Given the description of an element on the screen output the (x, y) to click on. 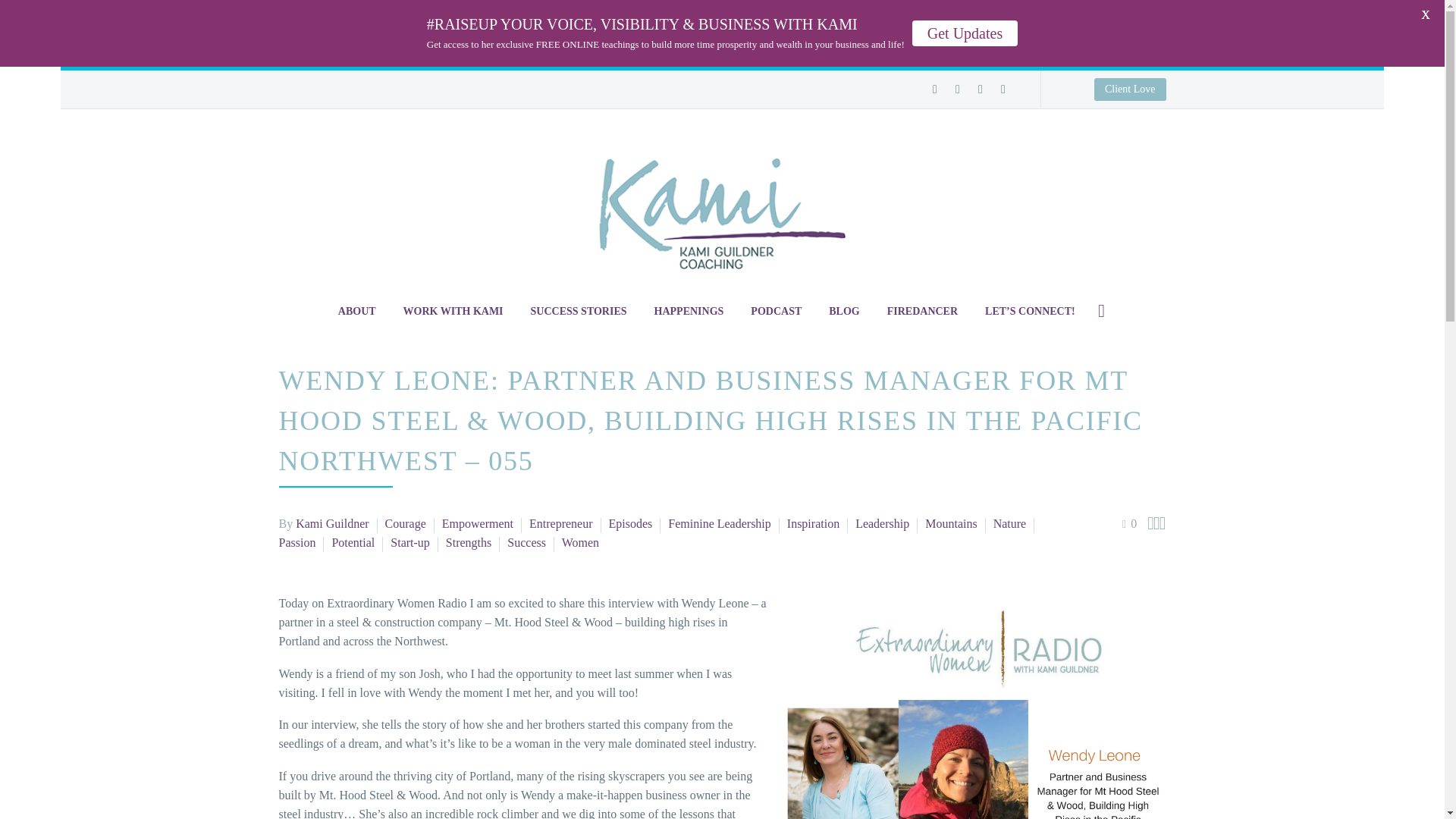
Client Love (722, 87)
Kami Guildner (331, 522)
WORK WITH KAMI (453, 311)
Episodes (630, 522)
Facebook (934, 89)
BLOG (843, 311)
FIREDANCER (922, 311)
View all posts in Inspiration (813, 522)
Courage (405, 522)
View all posts in Courage (405, 522)
View all posts in Empowerment (477, 522)
Client Love (1130, 88)
s (1254, 391)
View all posts in Feminine Leadership (719, 522)
YouTube (1002, 89)
